Given the description of an element on the screen output the (x, y) to click on. 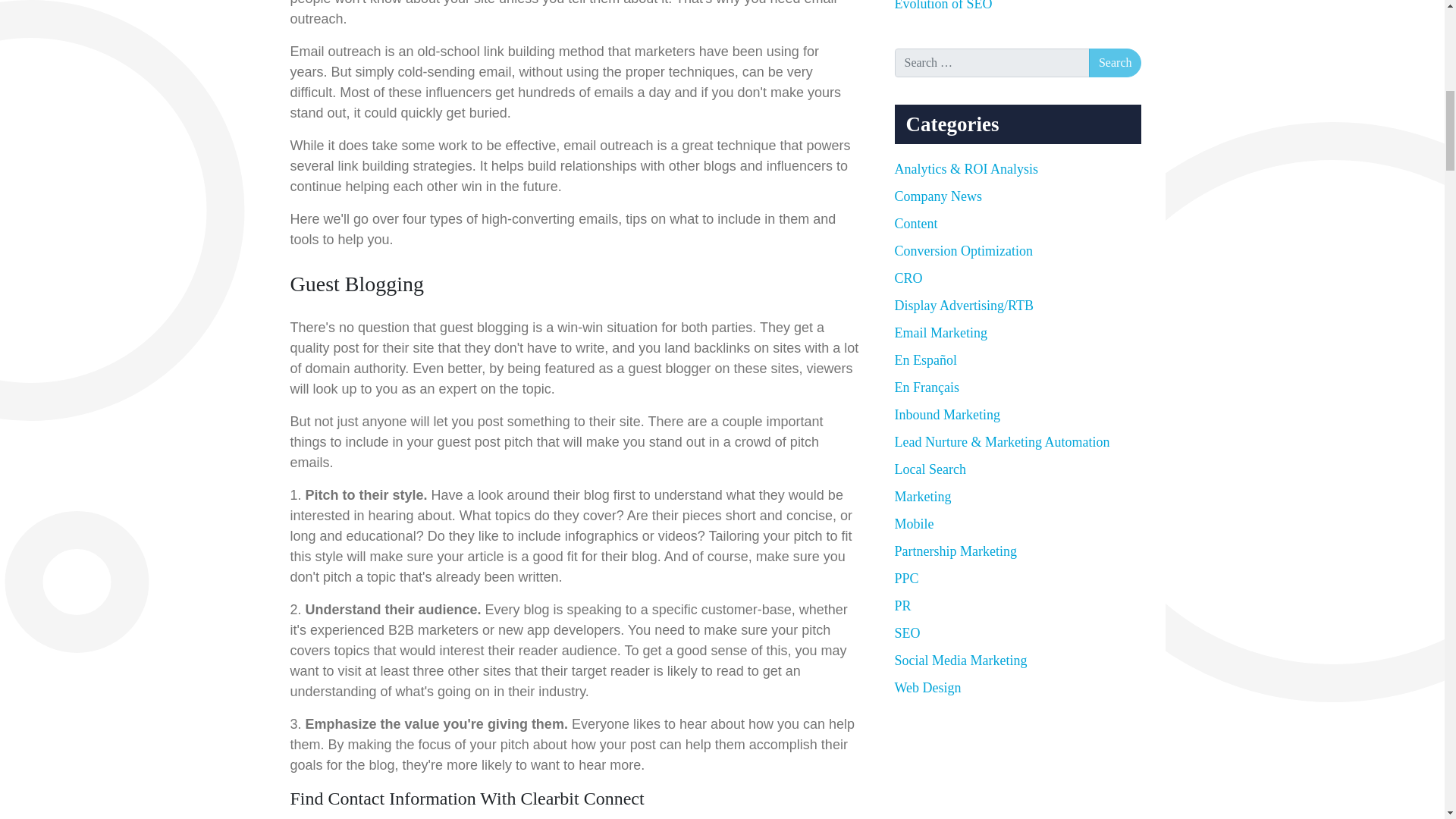
Search (1115, 62)
Search (1115, 62)
